Given the description of an element on the screen output the (x, y) to click on. 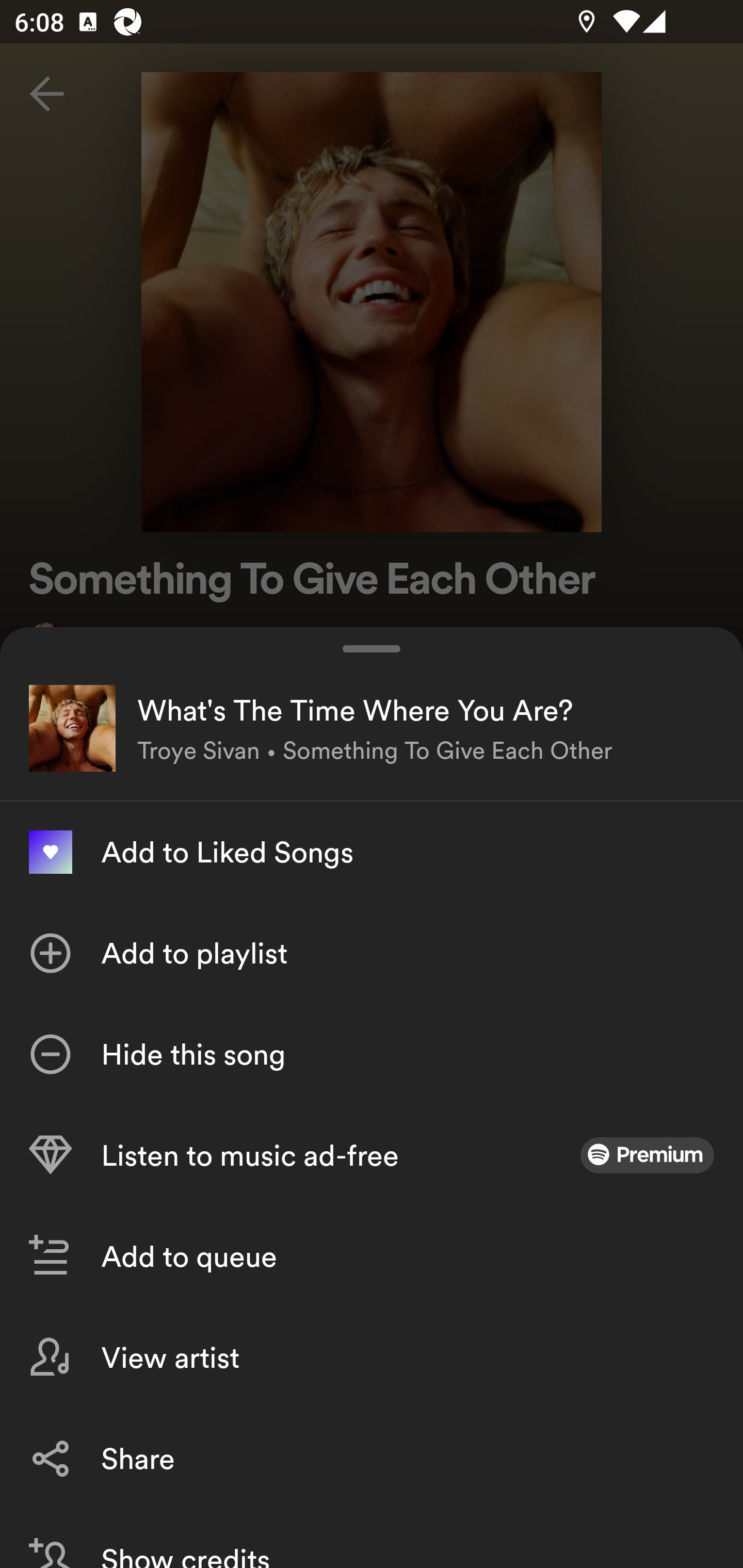
Add to Liked Songs (371, 852)
Add to playlist (371, 953)
Hide this song (371, 1054)
Listen to music ad-free (371, 1155)
Add to queue (371, 1256)
View artist (371, 1357)
Share (371, 1458)
Show credits (371, 1538)
